Given the description of an element on the screen output the (x, y) to click on. 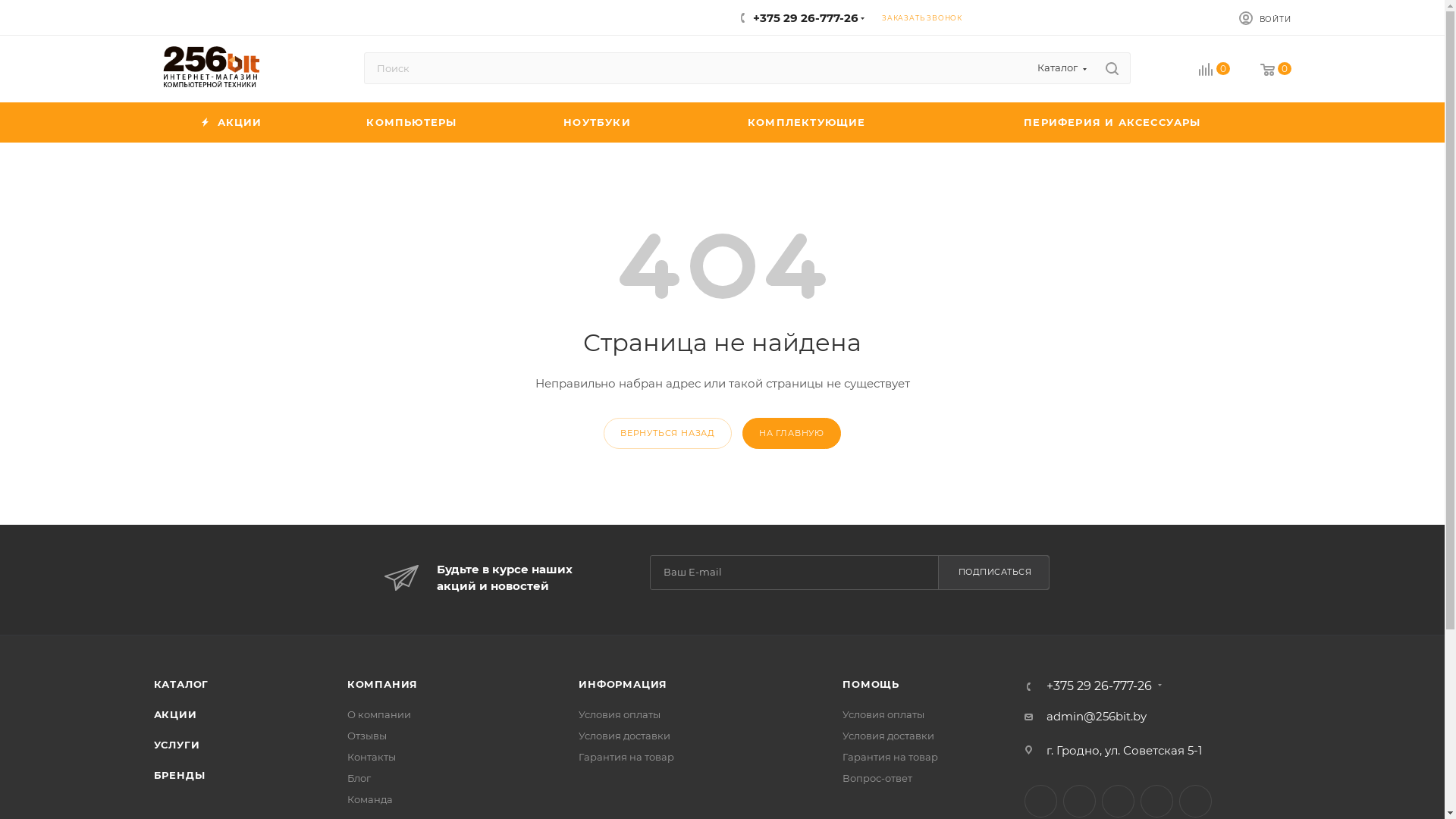
Telegram Element type: text (1117, 800)
Viber Element type: text (1195, 800)
admin@256bit.by Element type: text (1096, 716)
+375 29 26-777-26 Element type: text (1098, 686)
Instagram Element type: text (1079, 800)
YouTube Element type: text (1156, 800)
256bit.by Element type: hover (209, 65)
+375 29 26-777-26 Element type: text (805, 17)
0 Element type: text (1275, 70)
0 Element type: text (1213, 70)
